Given the description of an element on the screen output the (x, y) to click on. 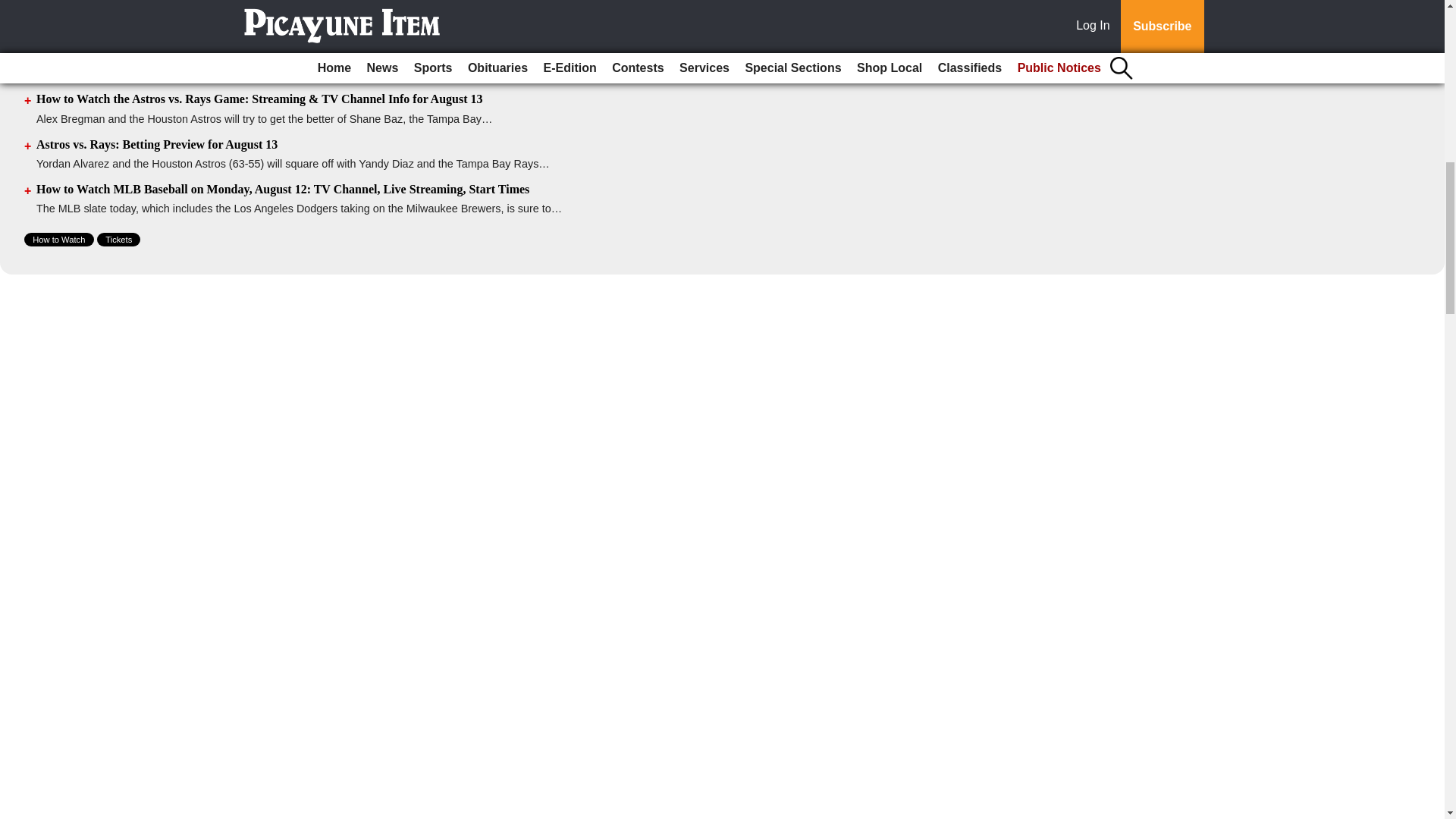
Astros vs. Rays: Betting Preview for August 13 (157, 144)
Tickets (118, 239)
How to Watch (59, 239)
